Given the description of an element on the screen output the (x, y) to click on. 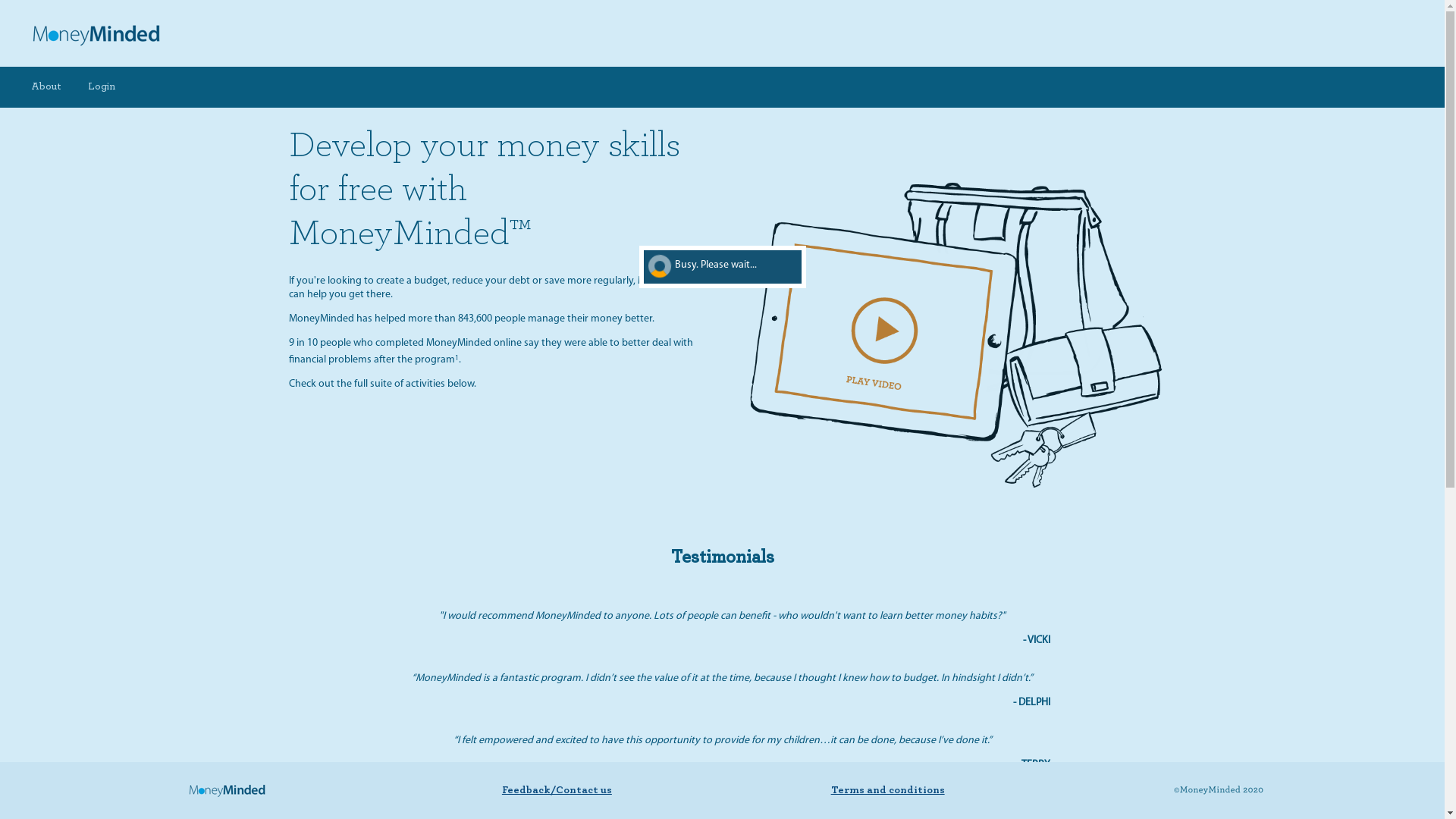
Terms and conditions Element type: text (887, 789)
Hero.png Element type: hover (954, 333)
About Element type: text (45, 86)
Login Element type: text (101, 86)
Feedback/Contact us Element type: text (556, 789)
